Given the description of an element on the screen output the (x, y) to click on. 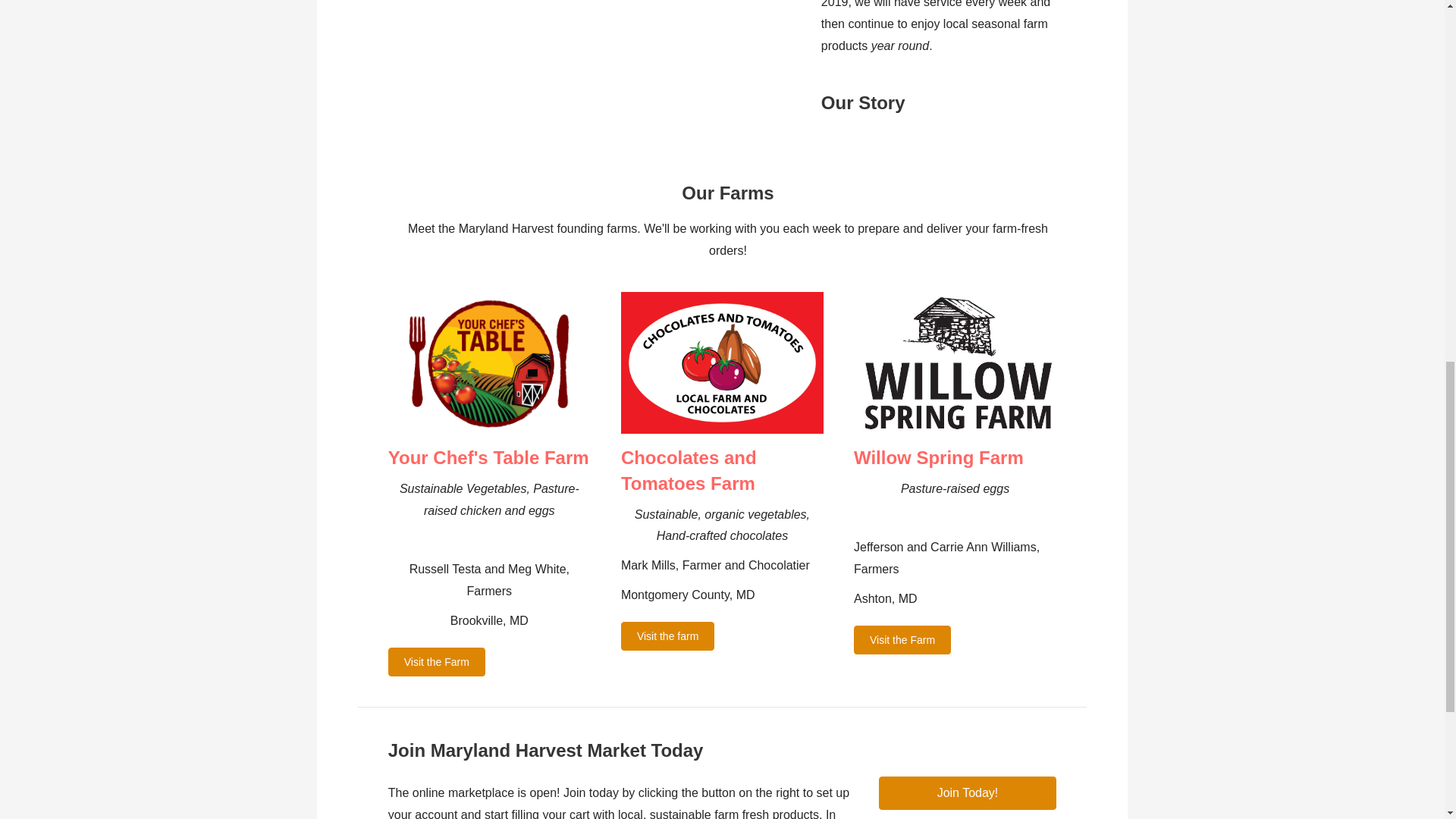
Your Chef's Table Farm (488, 457)
Visit the farm (667, 635)
WSF Logo (955, 362)
Willow Spring Farm (938, 457)
Join Today! (968, 792)
Chocolates and Tomatoes Farm (689, 470)
Visit the Farm (436, 661)
Visit the Farm (901, 639)
